Given the description of an element on the screen output the (x, y) to click on. 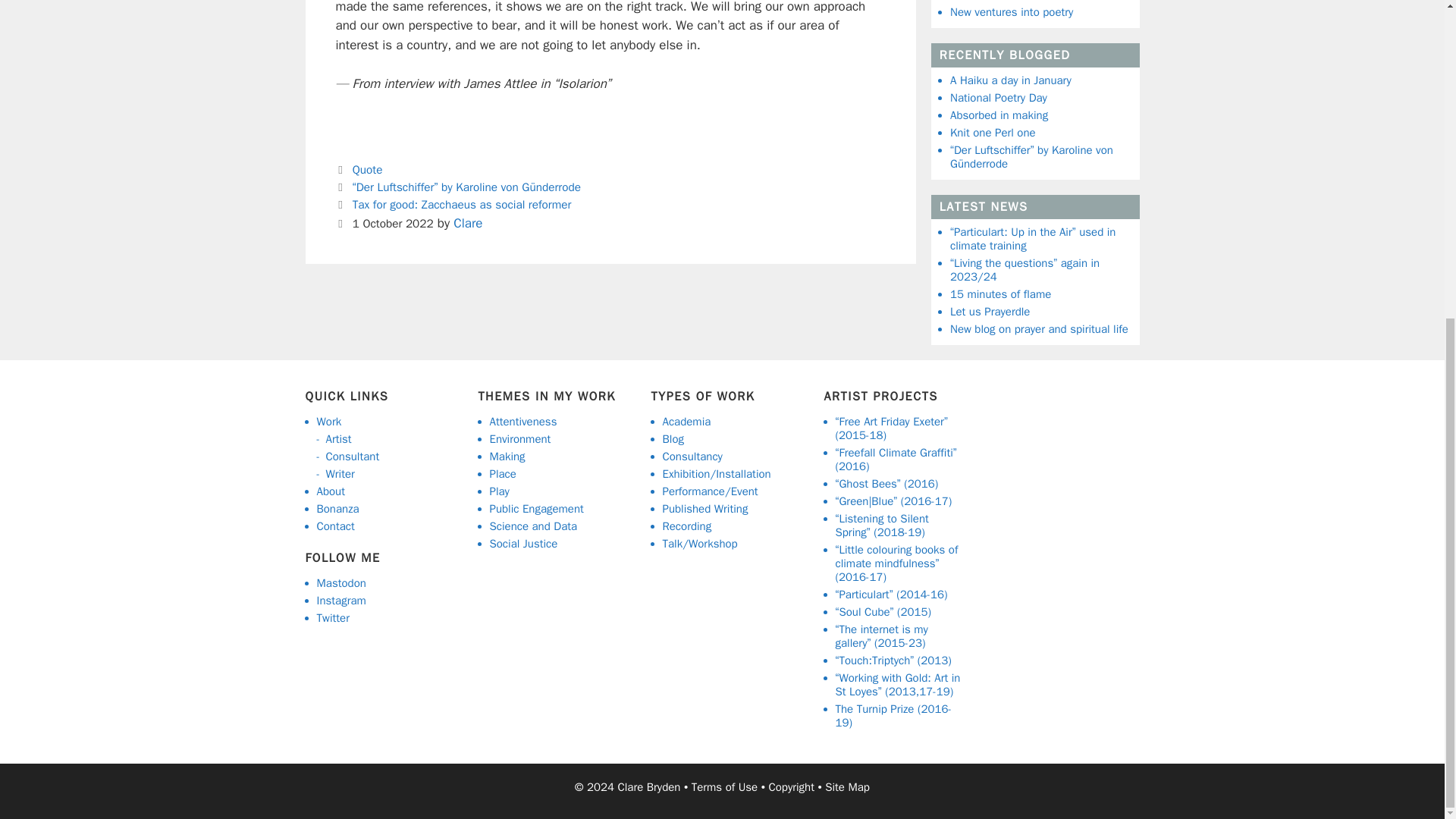
National Poetry Day (998, 97)
Absorbed in making (999, 114)
Clare (466, 222)
Knit one Perl one (992, 132)
Tax for good: Zacchaeus as social reformer (462, 204)
A Haiku a day in January (1010, 79)
Quote (367, 169)
New ventures into poetry (1011, 11)
View all posts by Clare (466, 222)
